Given the description of an element on the screen output the (x, y) to click on. 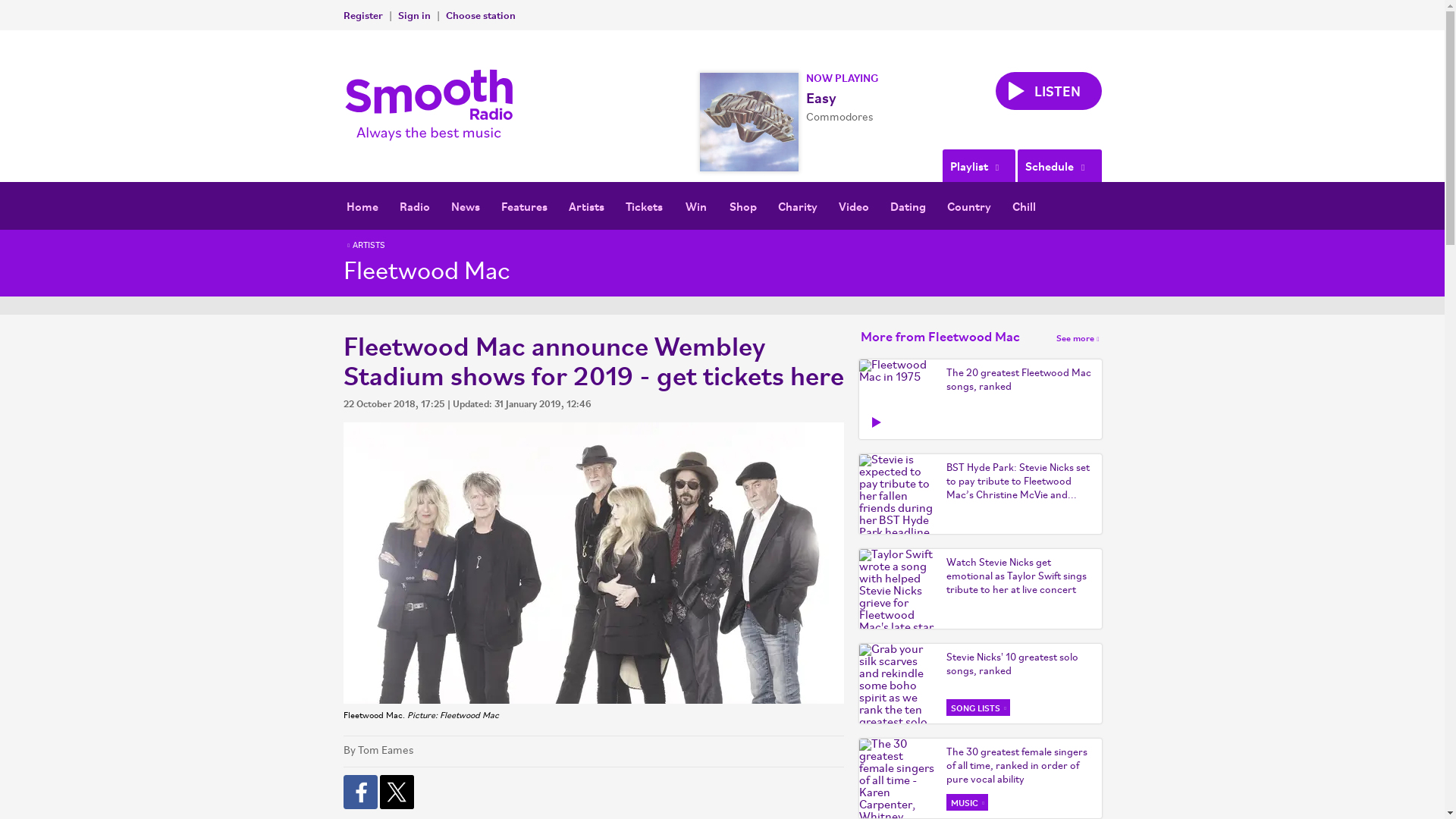
Radio (413, 205)
Charity (797, 205)
Chill (1023, 205)
Dating (907, 205)
Sign in (413, 14)
Playlist (978, 165)
Win (695, 205)
Home (361, 205)
News (464, 205)
Features (523, 205)
LISTEN (1047, 90)
Choose station (480, 14)
ARTISTS (363, 245)
Schedule (1058, 165)
Tickets (643, 205)
